Given the description of an element on the screen output the (x, y) to click on. 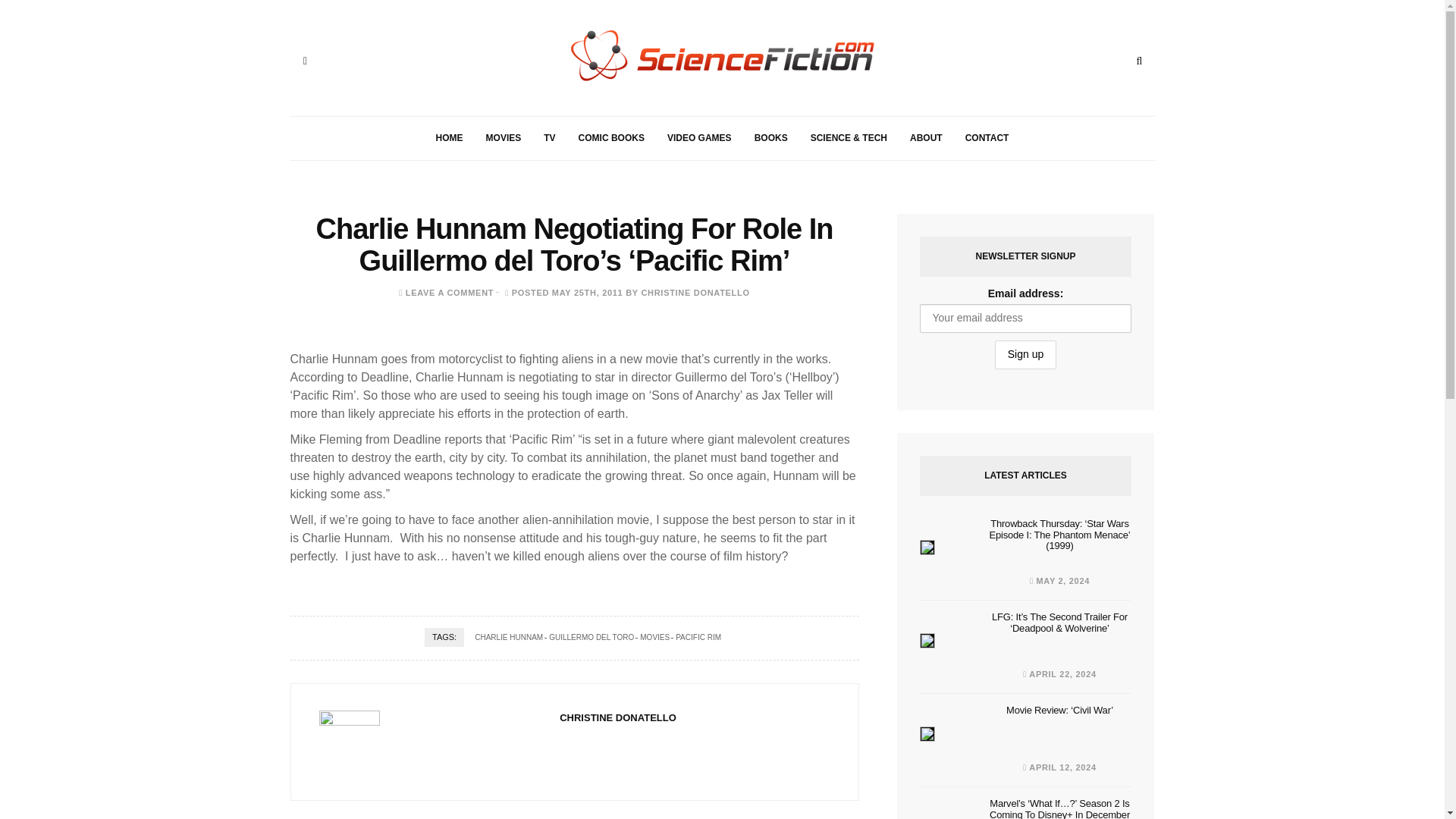
BOOKS (770, 138)
COMIC BOOKS (611, 138)
Sign up (1025, 354)
VIDEO GAMES (699, 138)
LEAVE A COMMENT (449, 292)
CHRISTINE DONATELLO (694, 292)
MOVIES (503, 138)
Posts by Christine Donatello (694, 292)
ABOUT (925, 138)
Search (1139, 60)
